Given the description of an element on the screen output the (x, y) to click on. 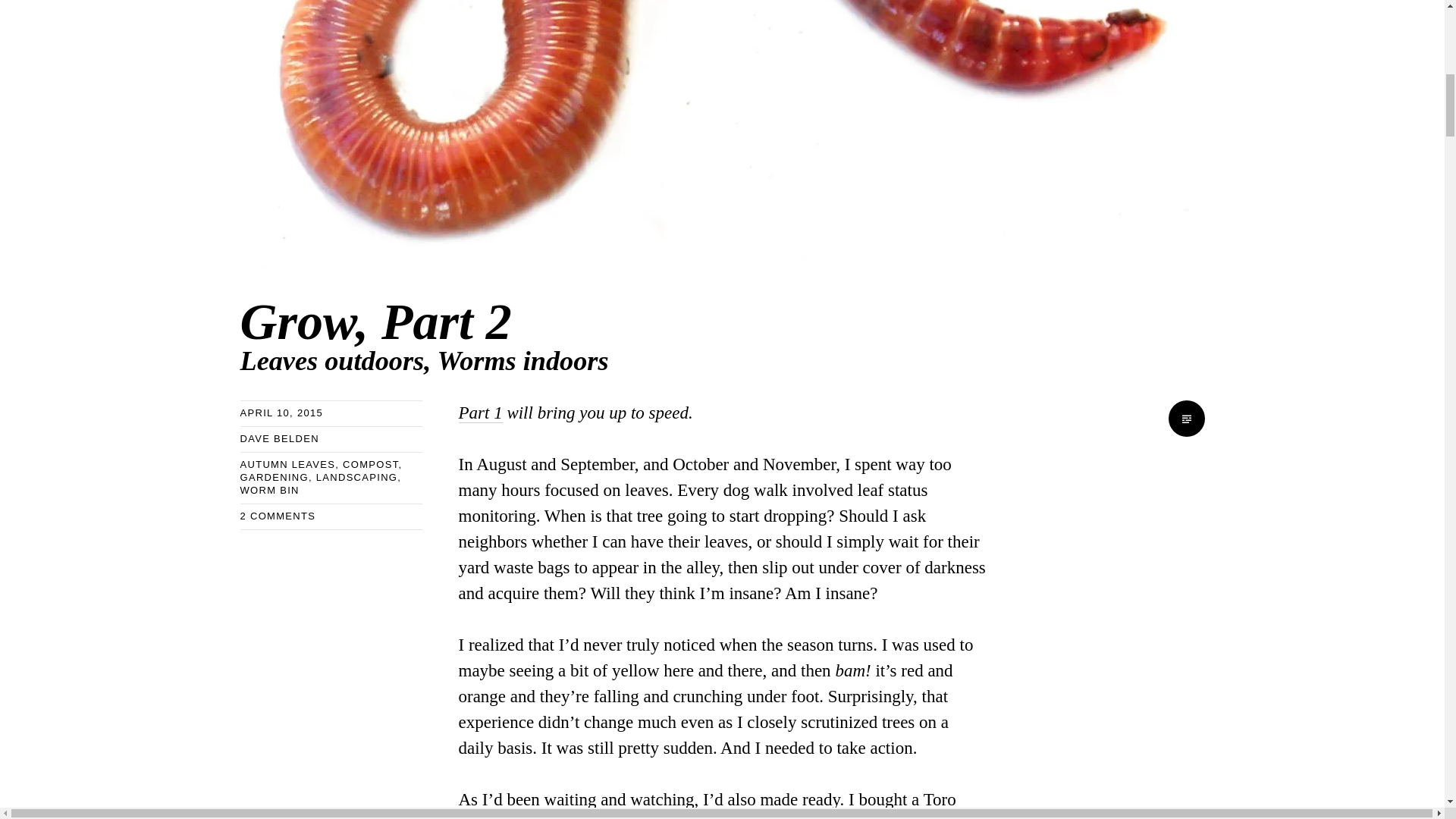
COMPOST (369, 464)
WORM BIN (269, 490)
1:01 pm (281, 412)
LANDSCAPING (356, 477)
APRIL 10, 2015 (281, 412)
Grow Part 1: From Interest to Obsession (480, 413)
GARDENING (612, 333)
DAVE BELDEN (273, 477)
